Given the description of an element on the screen output the (x, y) to click on. 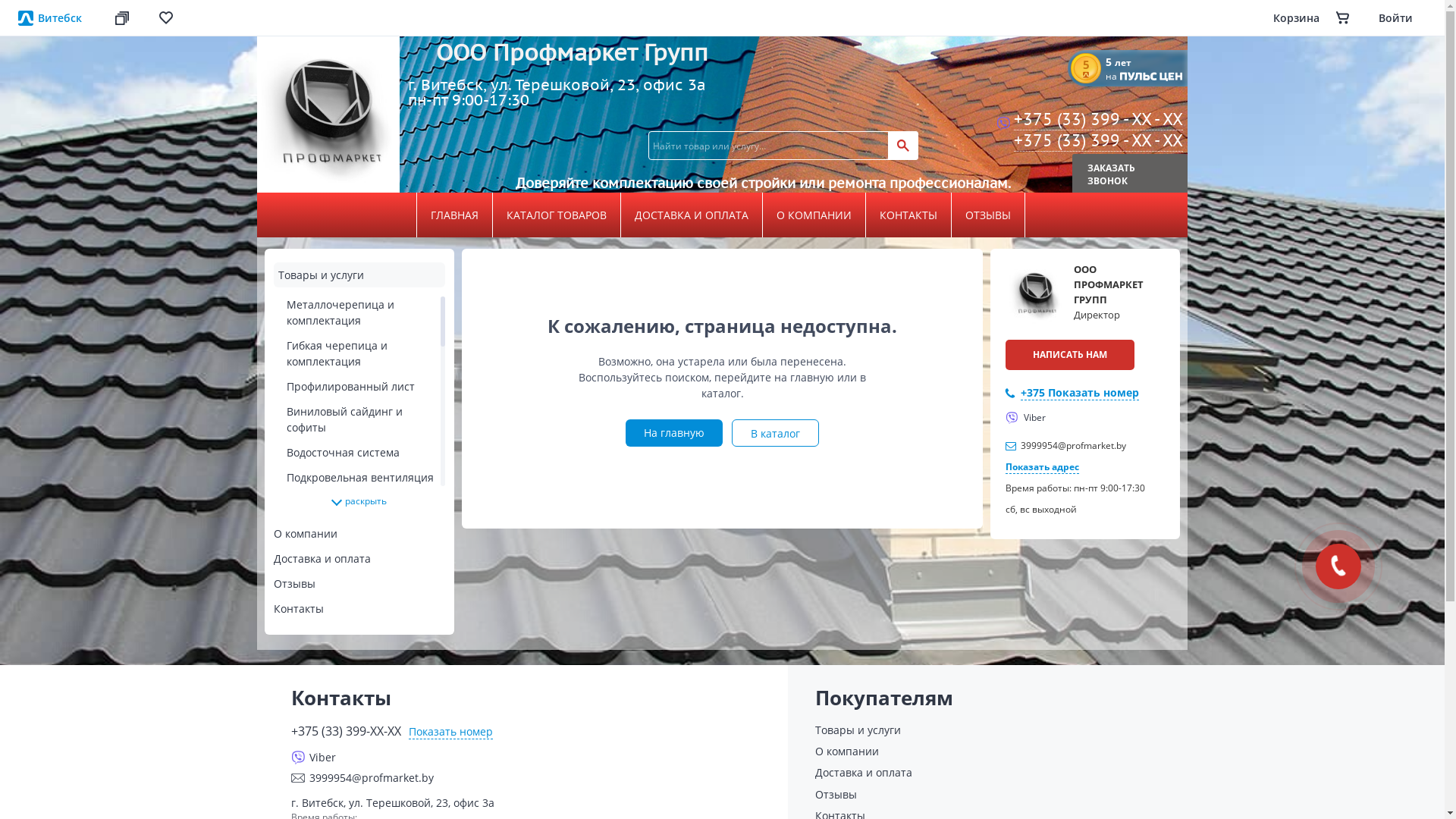
3999954@profmarket.by Element type: text (1073, 445)
Viber Element type: text (525, 757)
3999954@profmarket.by Element type: text (530, 777)
Viber Element type: text (1025, 417)
